Given the description of an element on the screen output the (x, y) to click on. 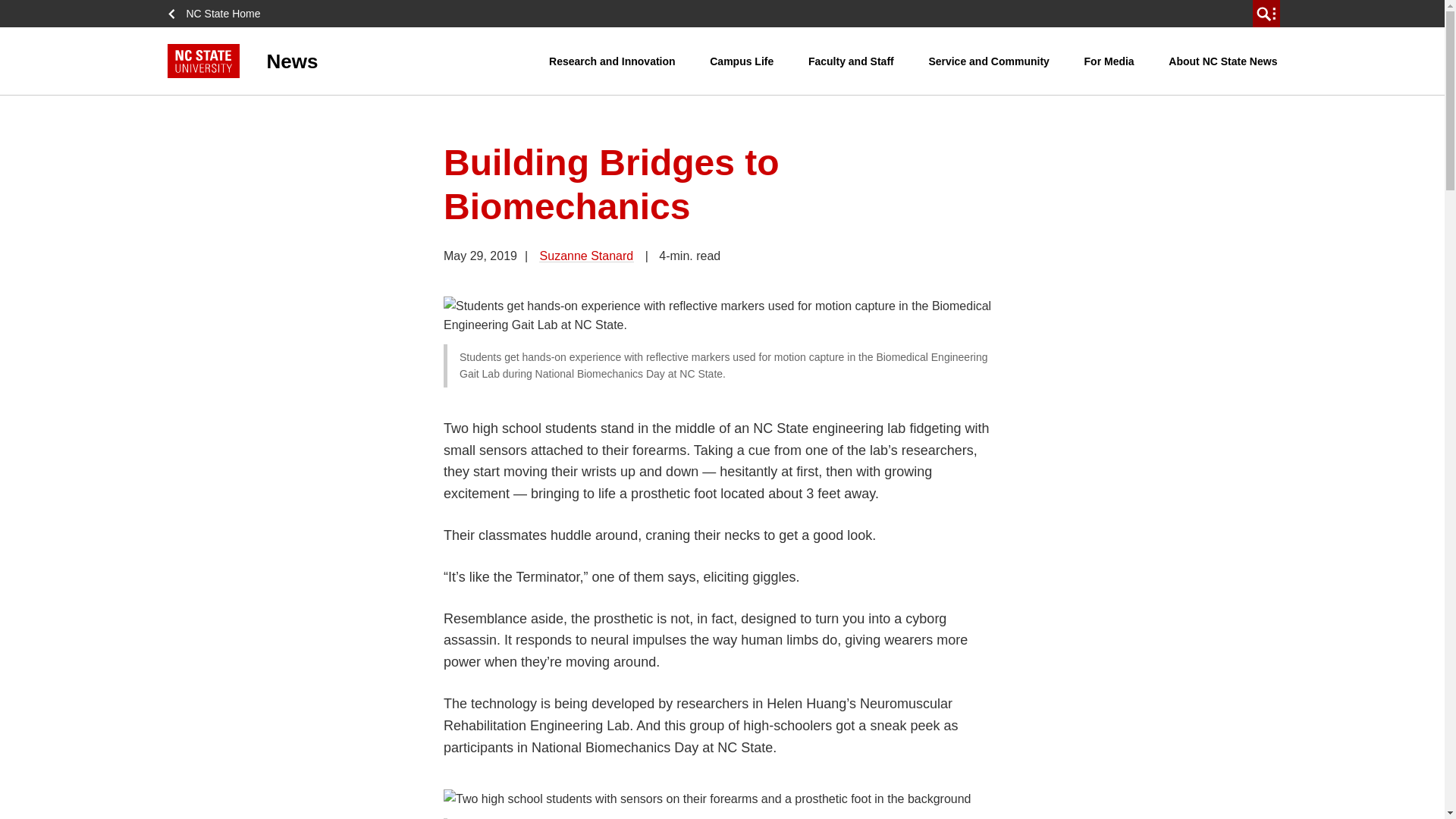
Service and Community (989, 61)
Faculty and Staff (851, 61)
Campus Life (741, 61)
Research and Innovation (611, 61)
NC State Home (217, 13)
News (357, 61)
Posts by Suzanne Stanard (586, 255)
